Given the description of an element on the screen output the (x, y) to click on. 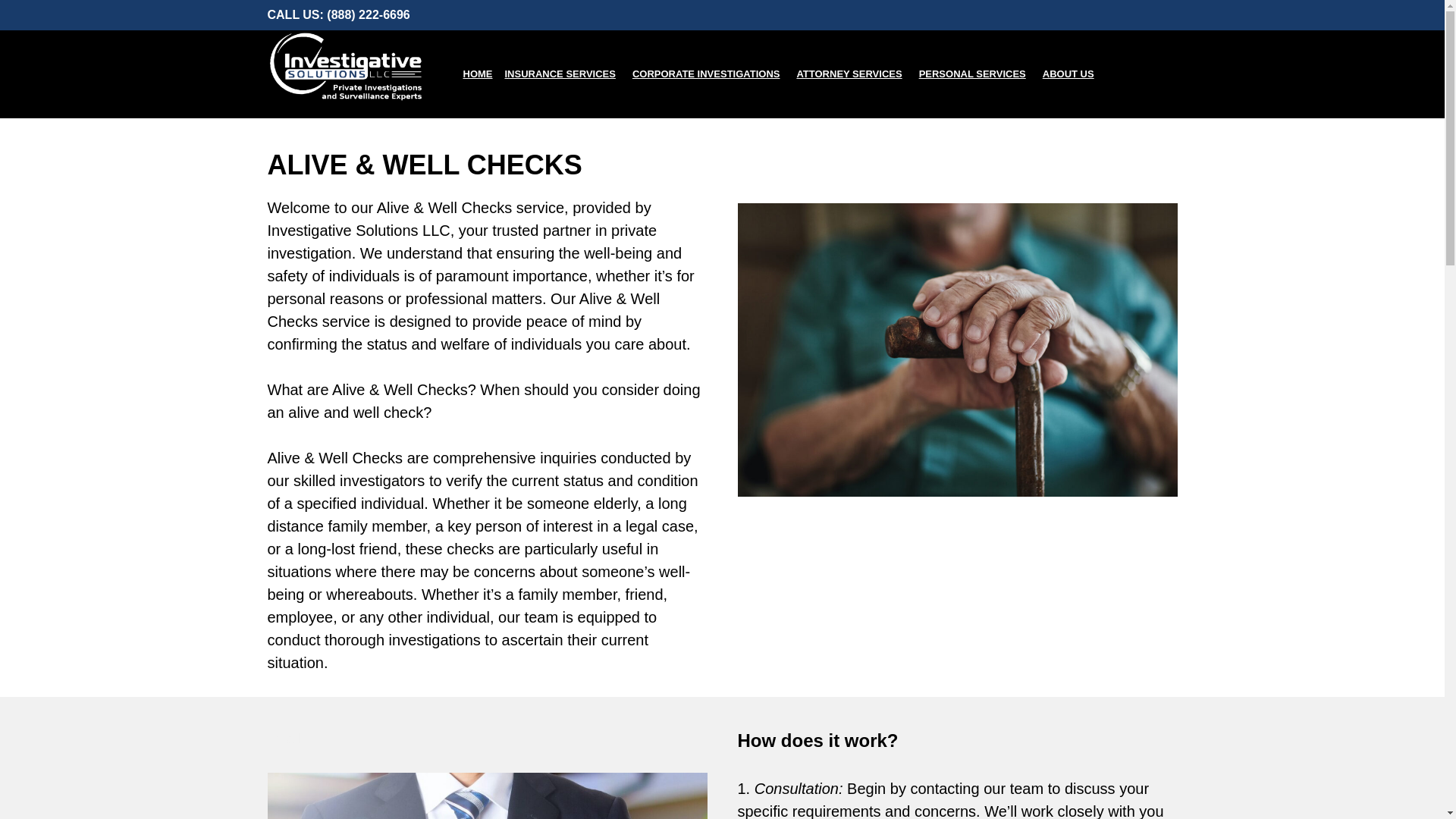
PERSONAL SERVICES (974, 73)
INVESTIGATIVE SOLUTIONS LLC (361, 66)
ATTORNEY SERVICES (851, 73)
INSURANCE SERVICES (562, 73)
CORPORATE INVESTIGATIONS (708, 73)
